Given the description of an element on the screen output the (x, y) to click on. 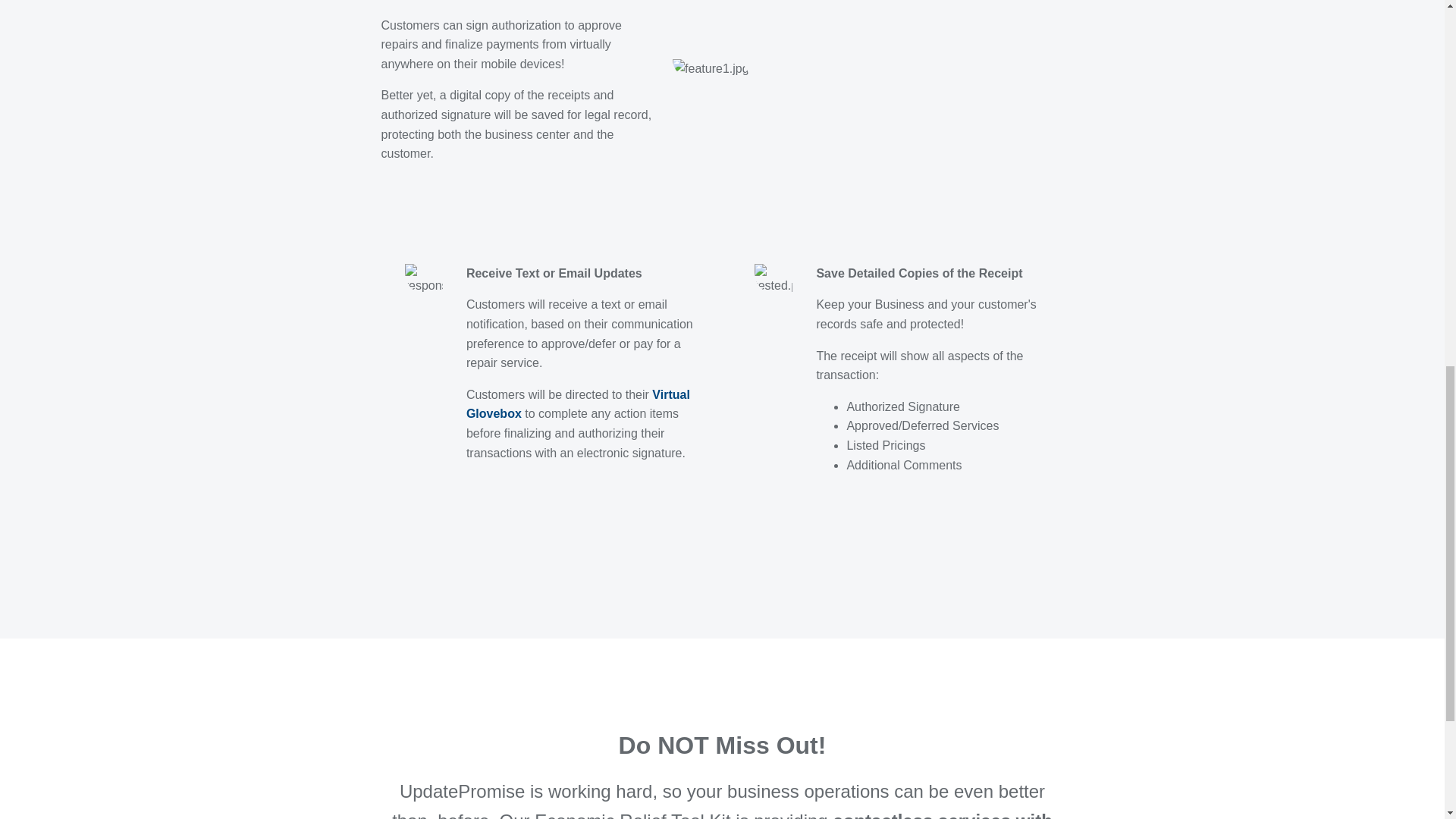
responsive.png (431, 279)
Virtual Glovebox (577, 404)
feature1.jpg (710, 68)
tested.png (781, 279)
